Given the description of an element on the screen output the (x, y) to click on. 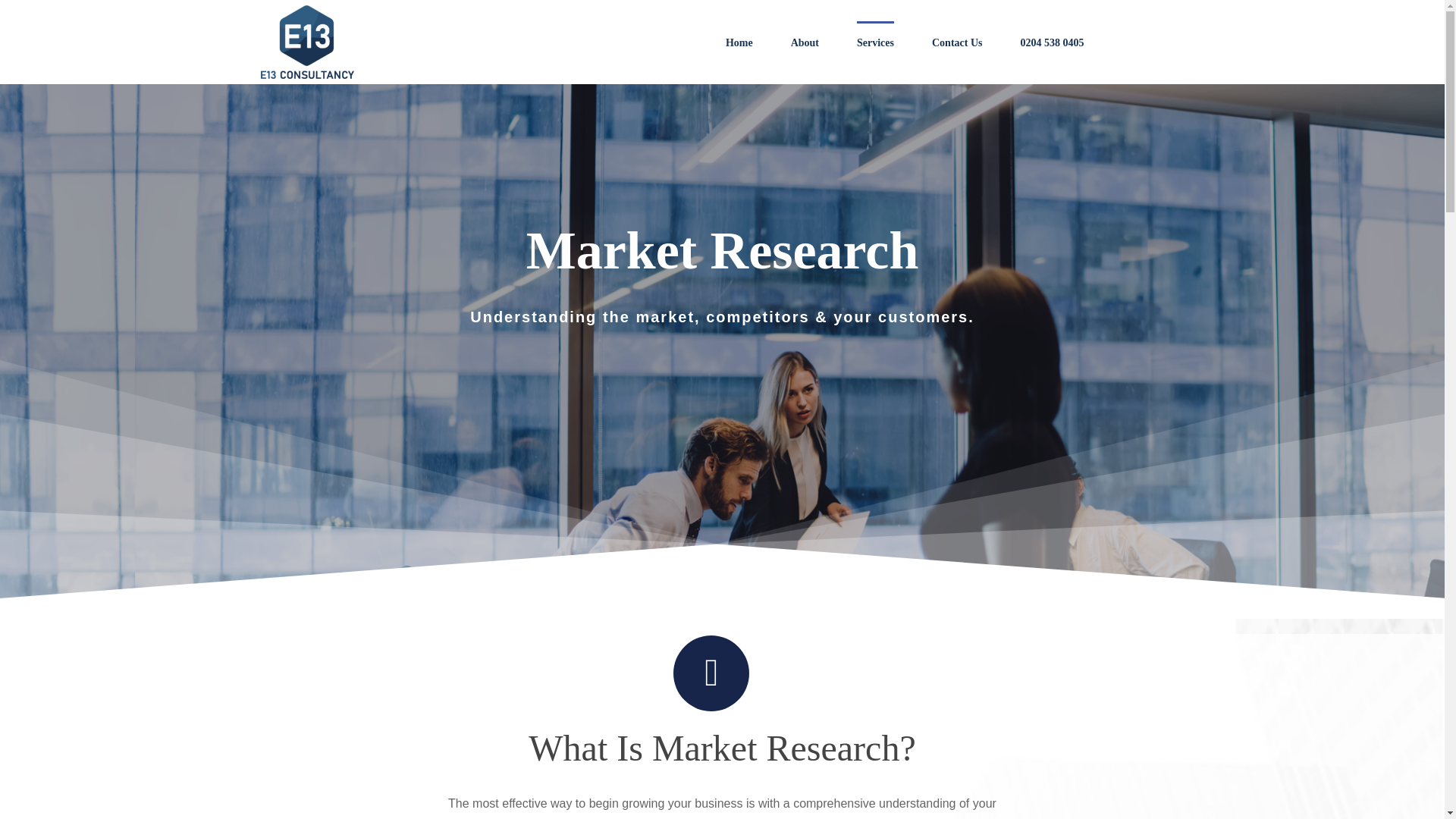
0204 538 0405 (1052, 42)
Contact Us (956, 42)
